Given the description of an element on the screen output the (x, y) to click on. 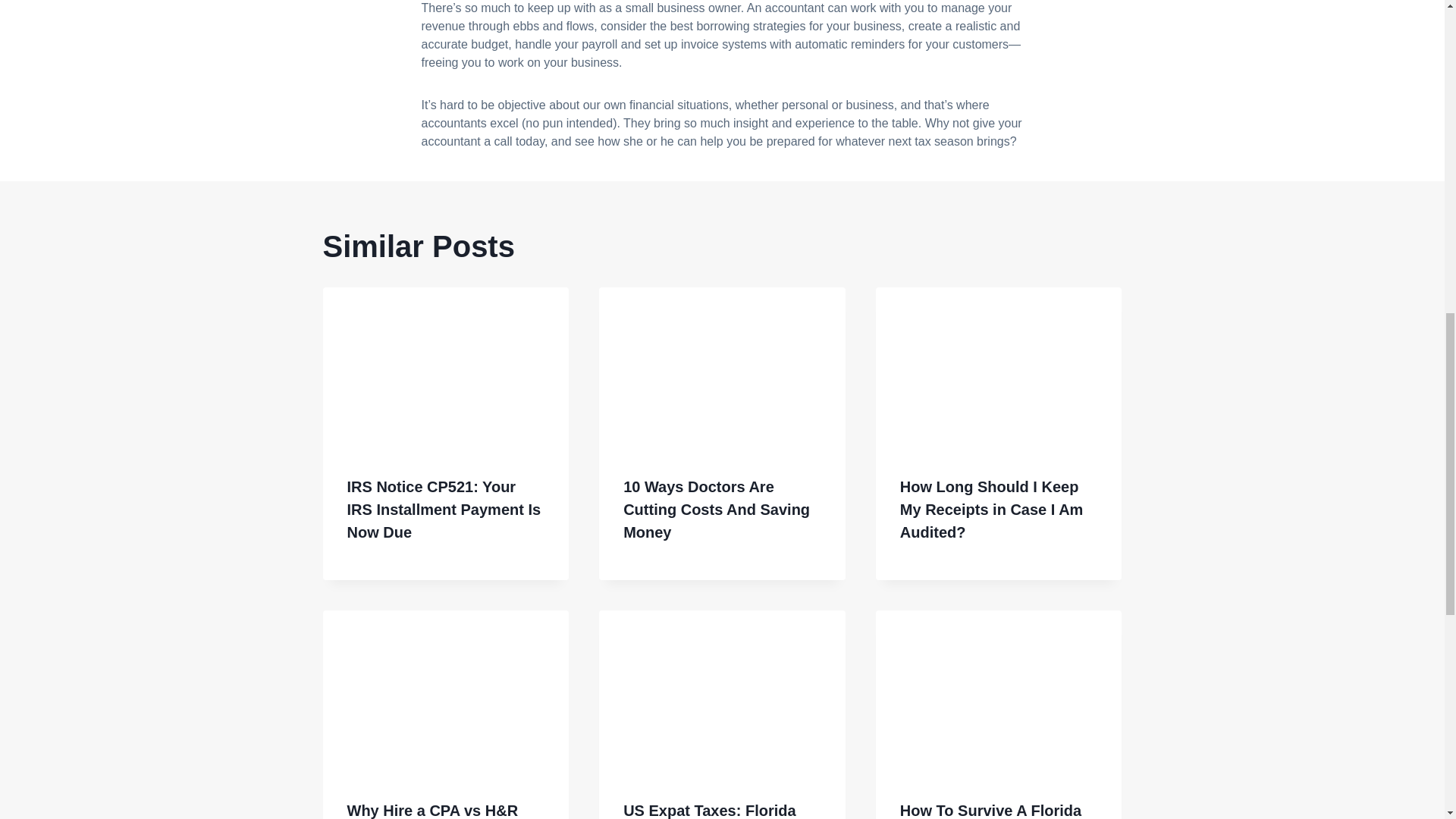
10 Ways Doctors Are Cutting Costs And Saving Money (716, 509)
IRS Notice CP521: Your IRS Installment Payment Is Now Due (444, 509)
How Long Should I Keep My Receipts in Case I Am Audited? (991, 509)
